Given the description of an element on the screen output the (x, y) to click on. 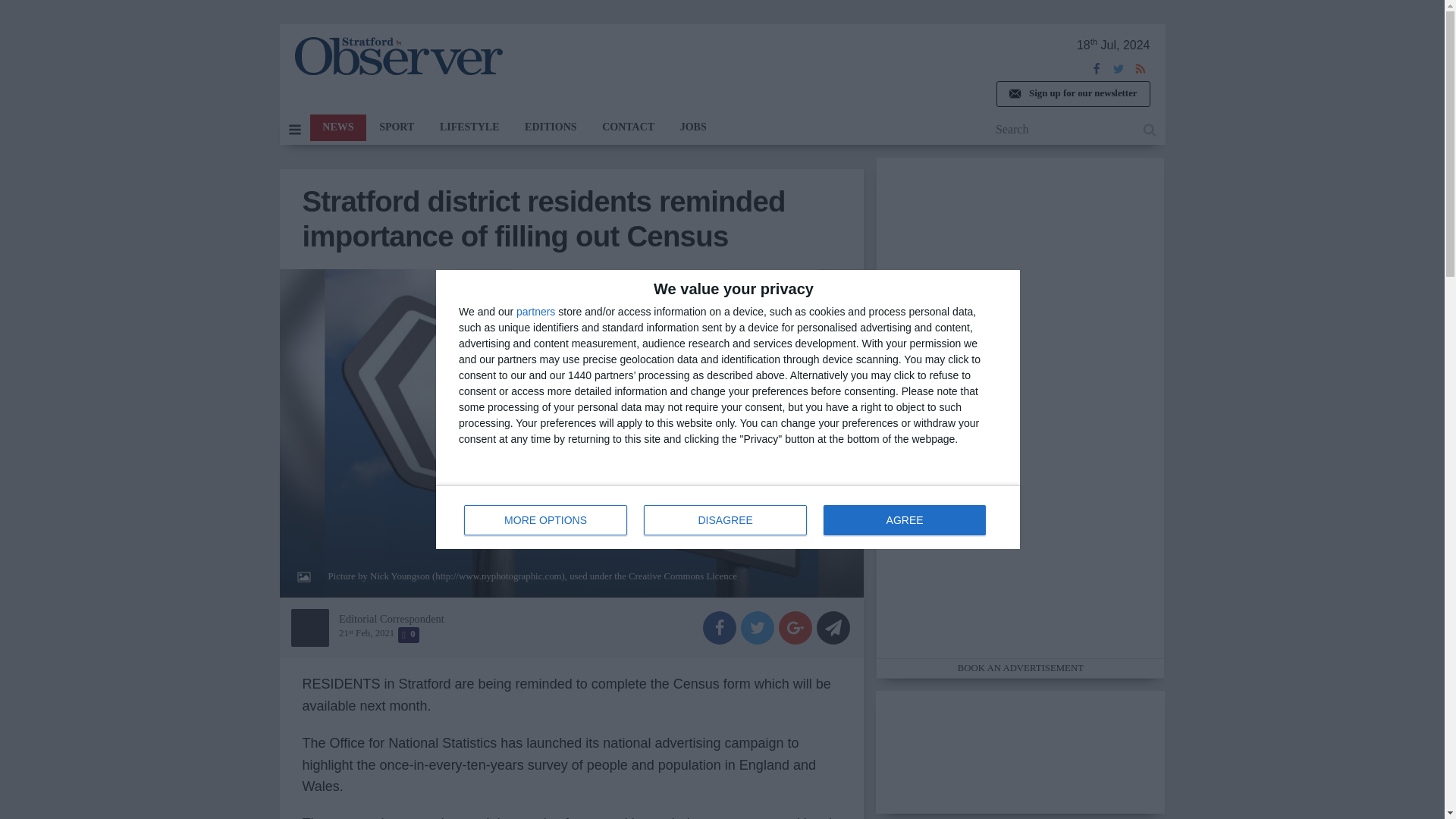
  Sign up for our newsletter (727, 516)
DISAGREE (1072, 94)
The Stratford Observer (724, 520)
AGREE (398, 55)
partners (904, 520)
LIFESTYLE (535, 311)
SPORT (469, 127)
MORE OPTIONS (396, 127)
NEWS (545, 520)
